Given the description of an element on the screen output the (x, y) to click on. 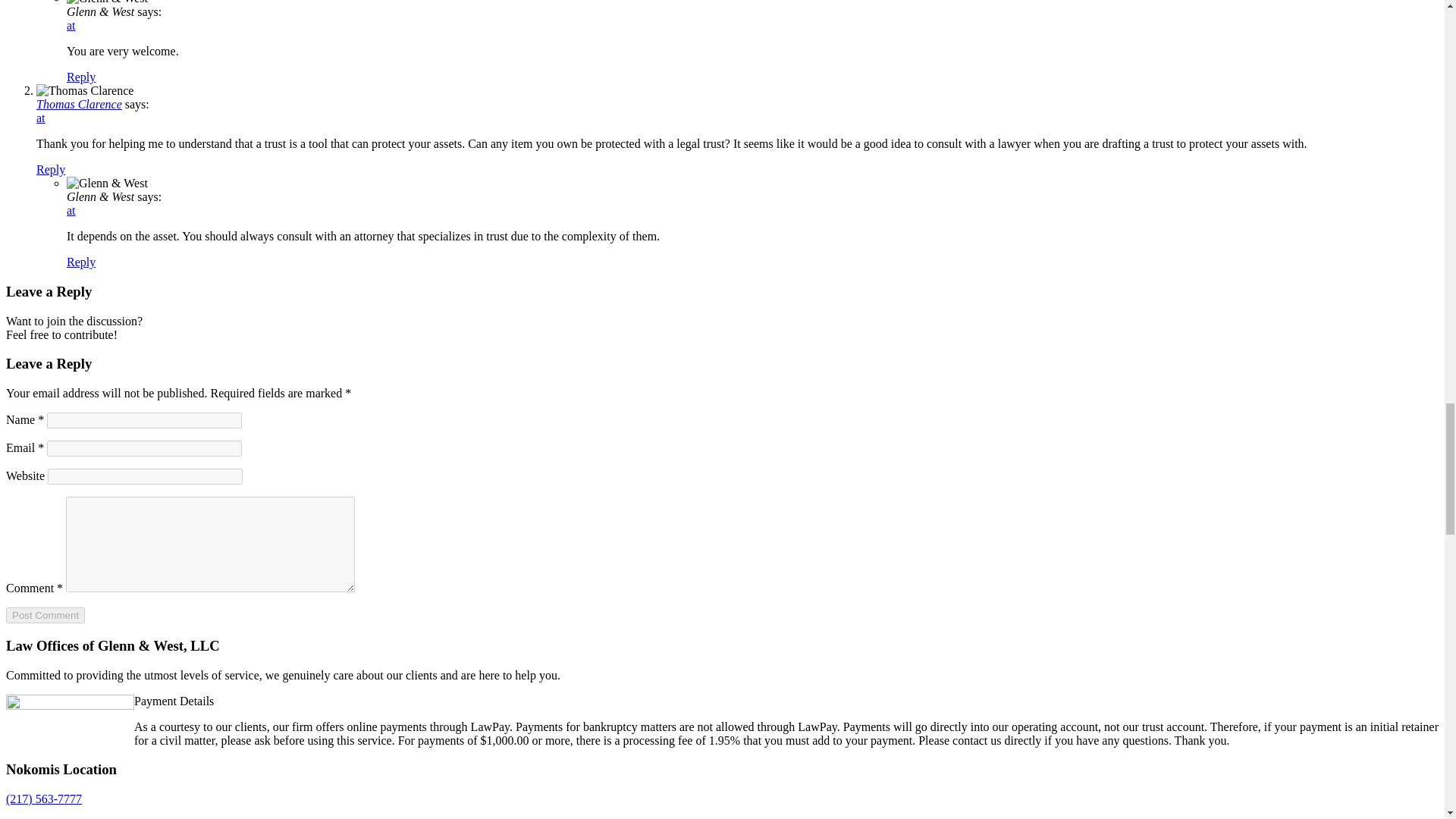
Post Comment (44, 615)
